Given the description of an element on the screen output the (x, y) to click on. 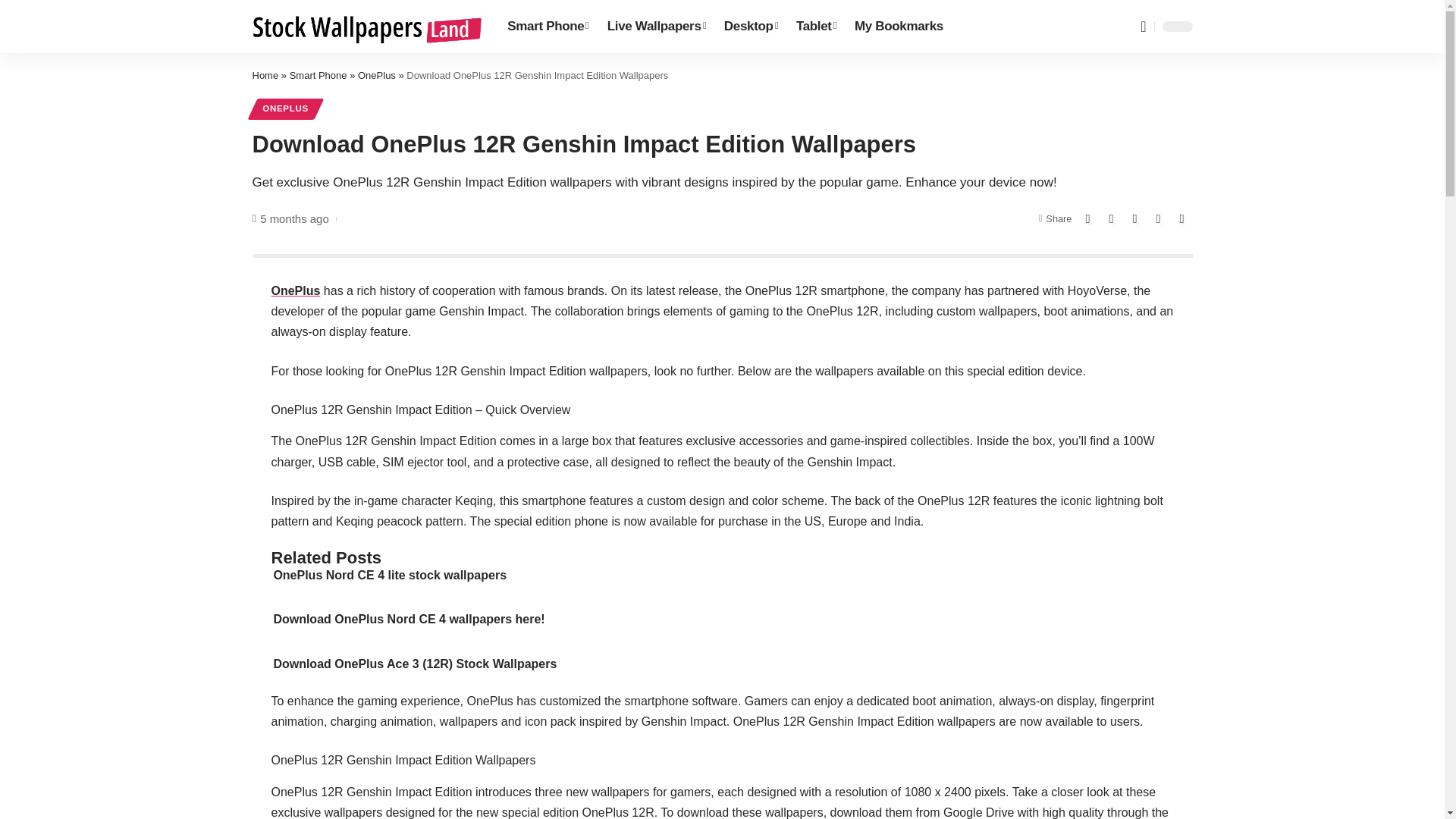
Stock Wallpapers Land (367, 26)
Live Wallpapers (656, 26)
Smart Phone (546, 26)
Desktop (750, 26)
